Given the description of an element on the screen output the (x, y) to click on. 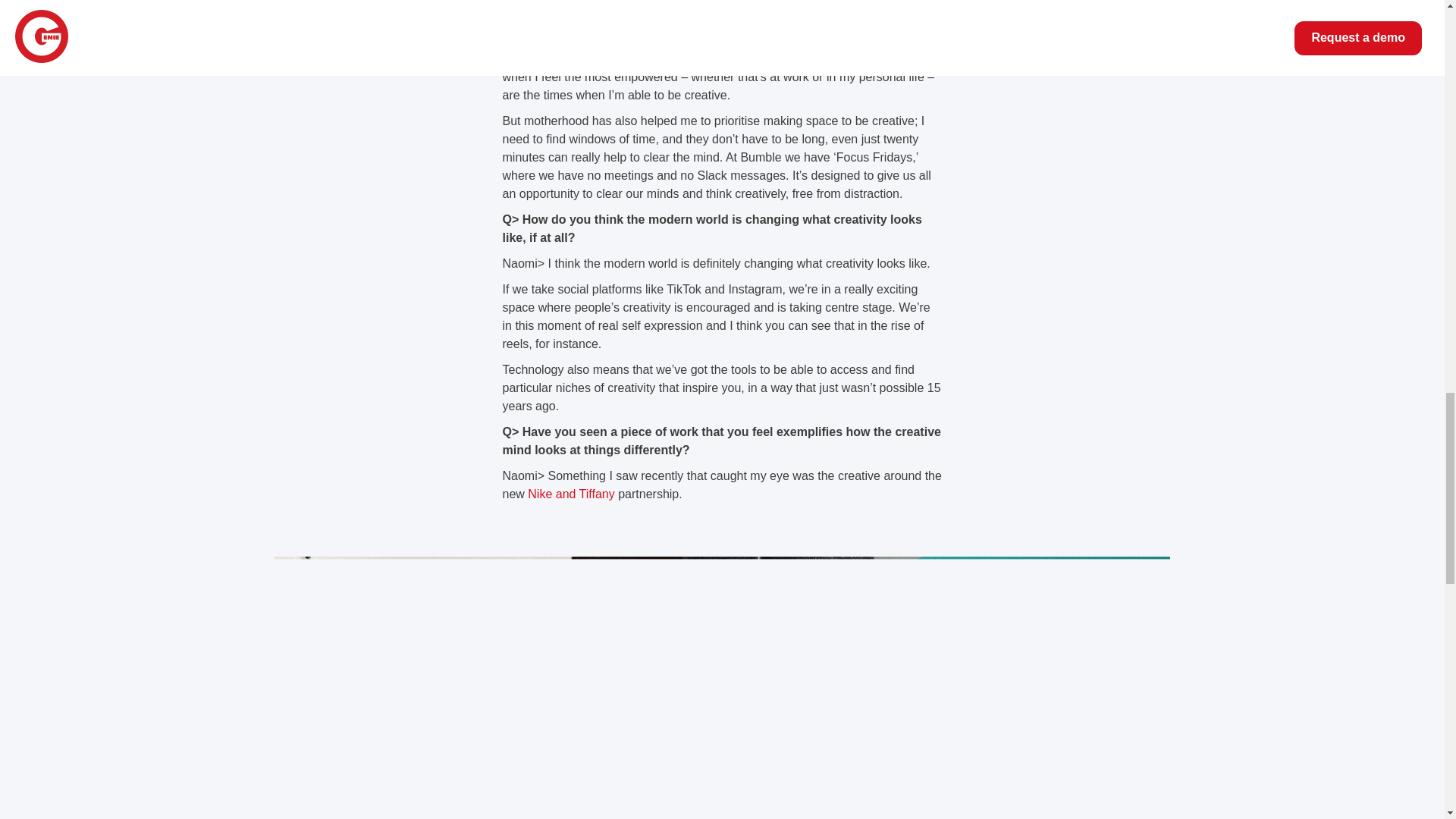
Nike and Tiffany (570, 493)
